Given the description of an element on the screen output the (x, y) to click on. 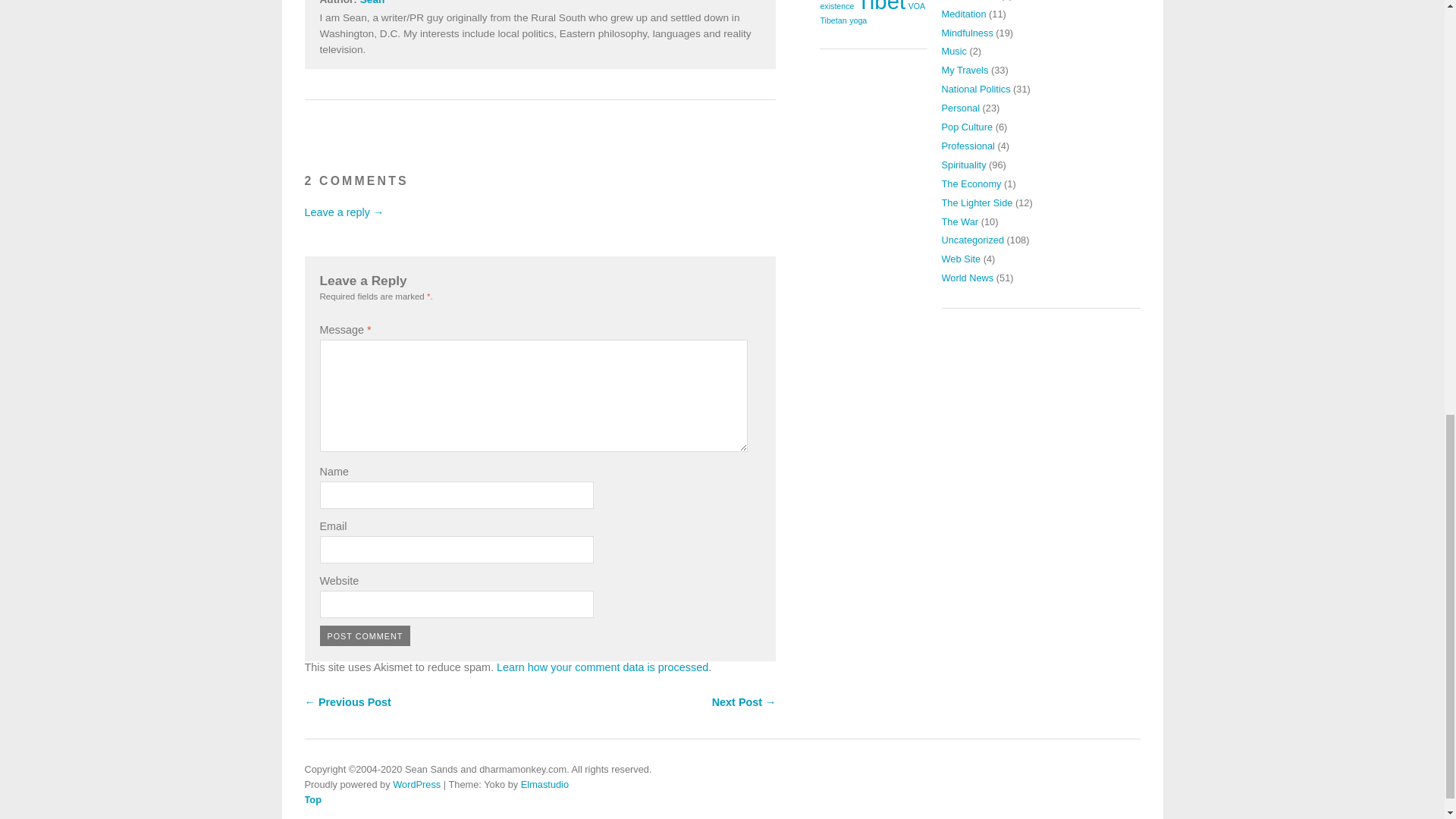
Post Comment (365, 635)
Learn how your comment data is processed (601, 666)
Sean (372, 2)
Post Comment (365, 635)
Sean (372, 2)
